Given the description of an element on the screen output the (x, y) to click on. 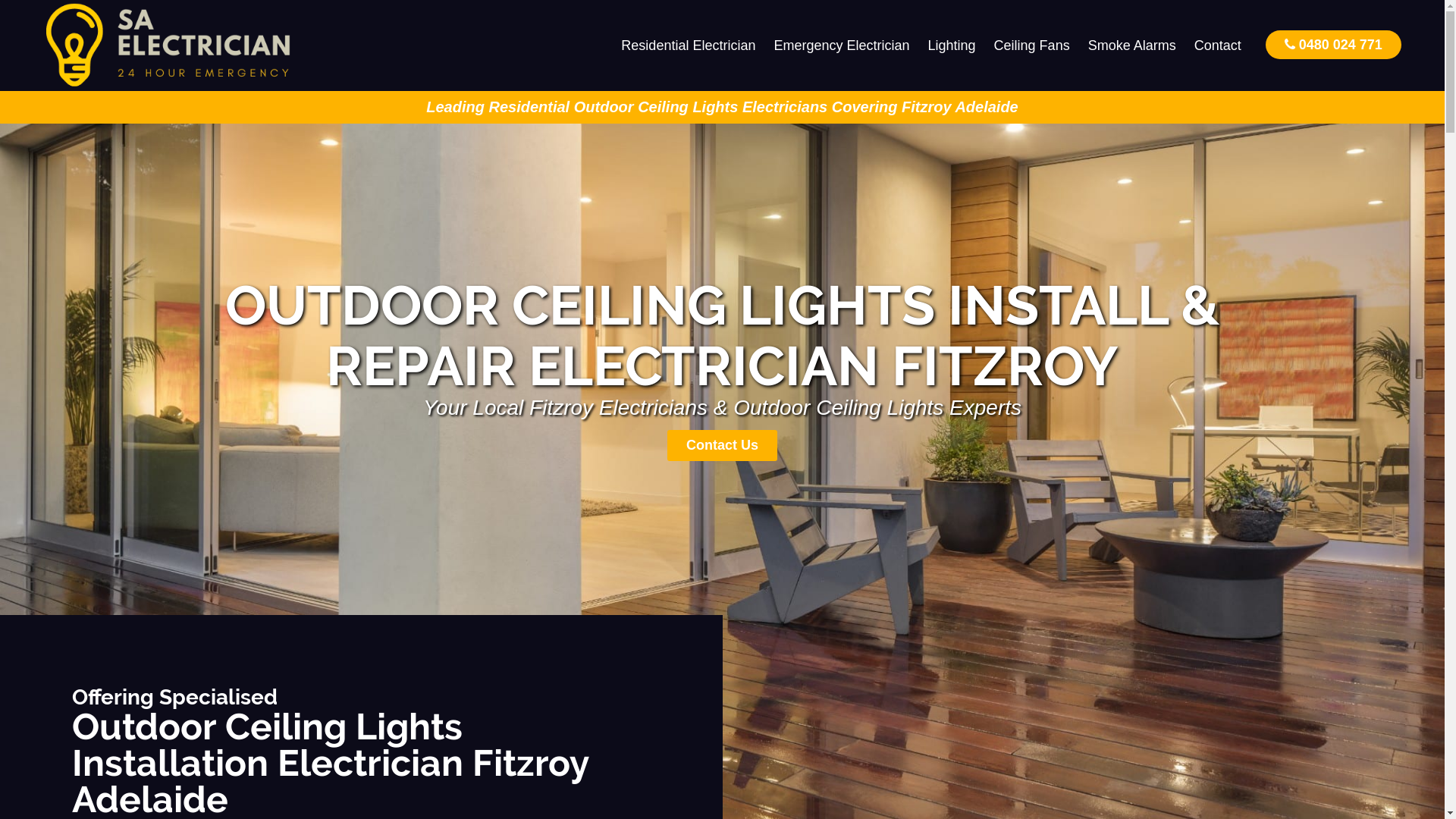
Smoke Alarms Element type: text (1132, 45)
0480 024 771 Element type: text (1333, 44)
Contact Us Element type: text (722, 445)
Contact Element type: text (1217, 45)
Ceiling Fans Element type: text (1032, 45)
Emergency Electrician Element type: text (841, 45)
Residential Electrician Element type: text (687, 45)
Lighting Element type: text (952, 45)
